Given the description of an element on the screen output the (x, y) to click on. 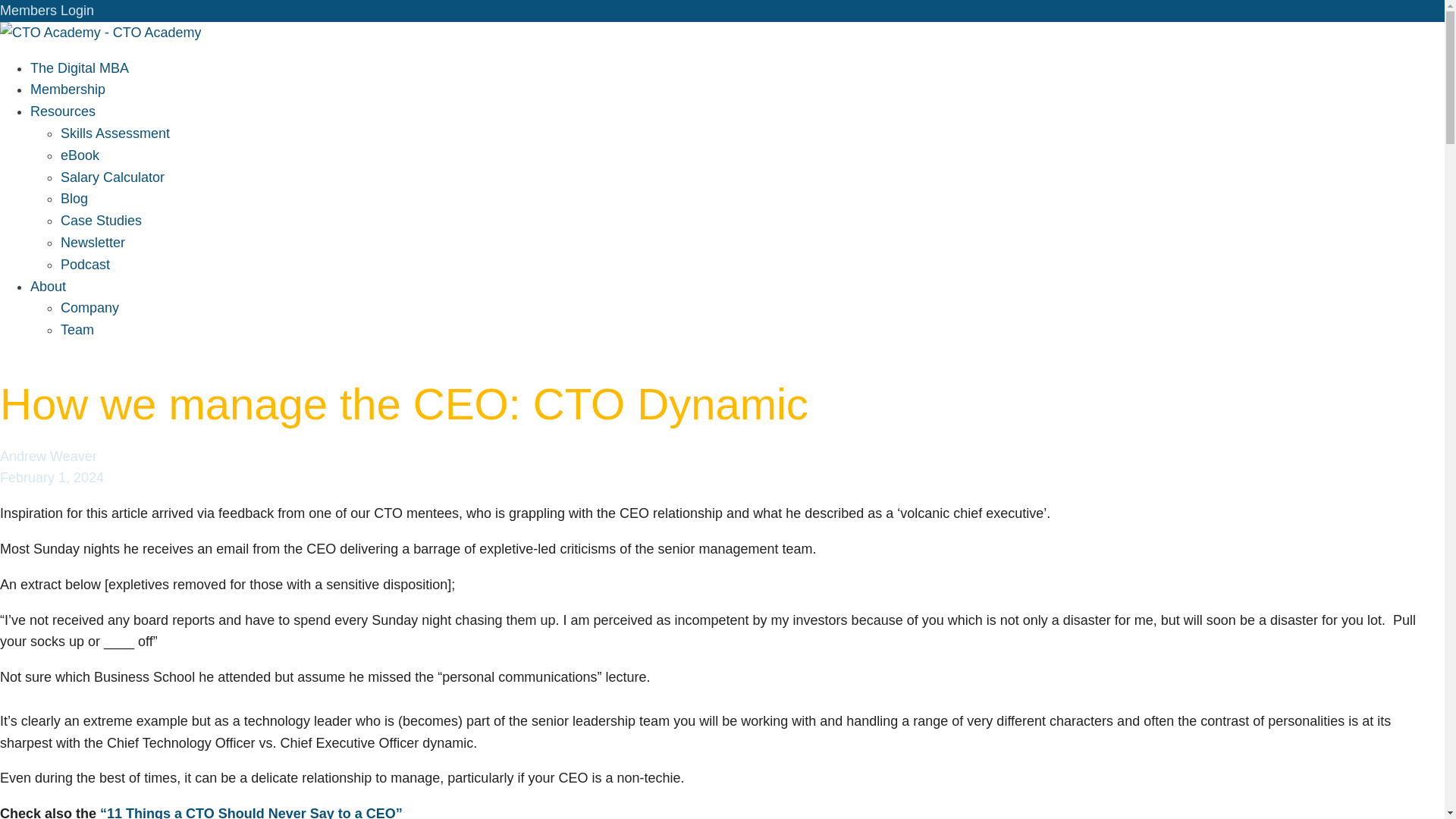
About (47, 286)
Newsletter (93, 242)
Company (90, 307)
Members Login (47, 10)
Skills Assessment (115, 133)
Salary Calculator (112, 177)
Resources (63, 111)
CTO Academy (100, 32)
Podcast (85, 264)
eBook (80, 155)
